Given the description of an element on the screen output the (x, y) to click on. 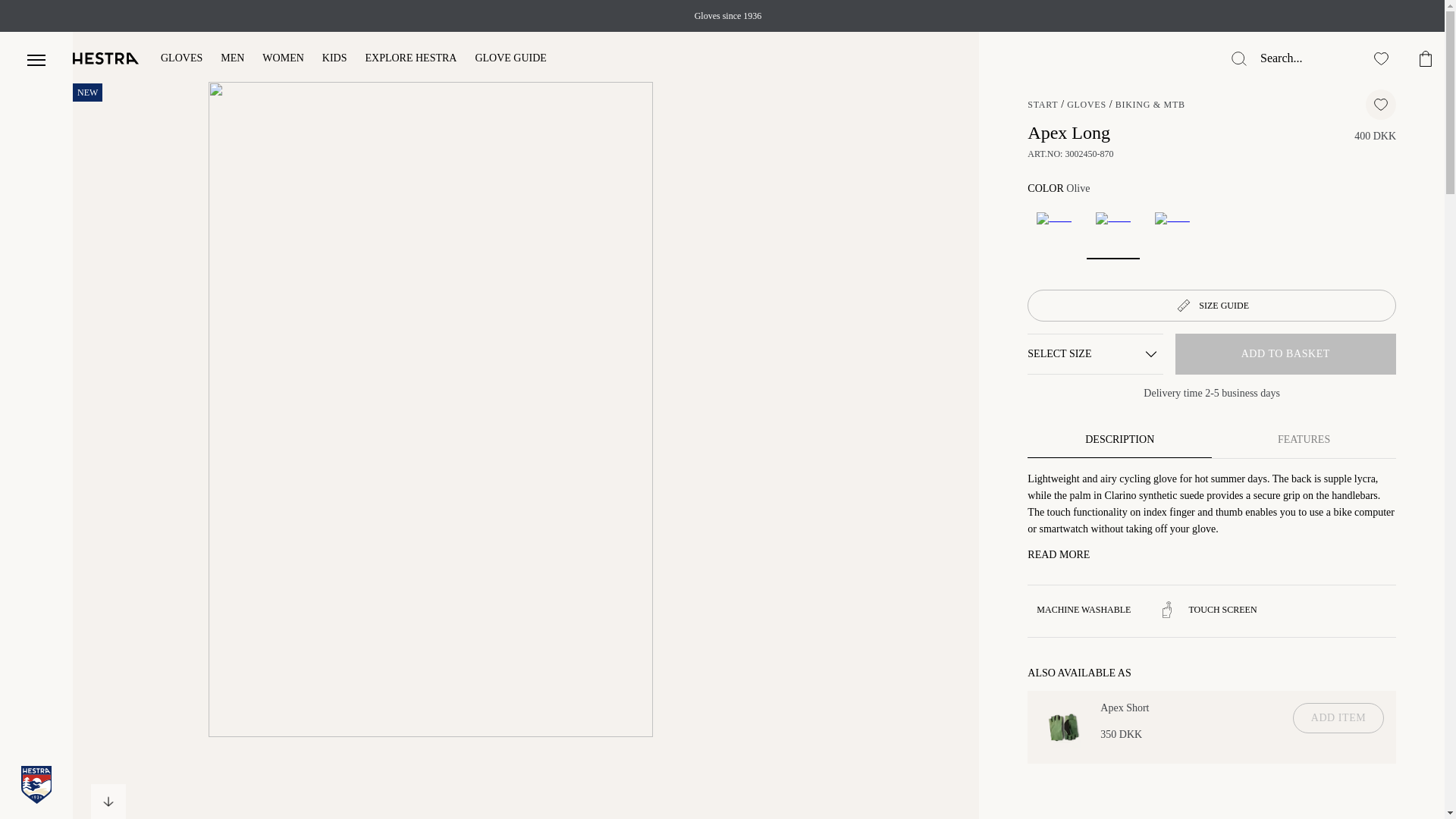
Image displaying the Hestra logotype (105, 57)
SIZE GUIDE (1211, 305)
MEN (232, 58)
Apex Short (1063, 726)
READ MORE (1058, 554)
GLOVES (181, 58)
GLOVE GUIDE (510, 58)
EXPLORE HESTRA (411, 58)
ADD TO BASKET (1285, 353)
START (1042, 104)
